Given the description of an element on the screen output the (x, y) to click on. 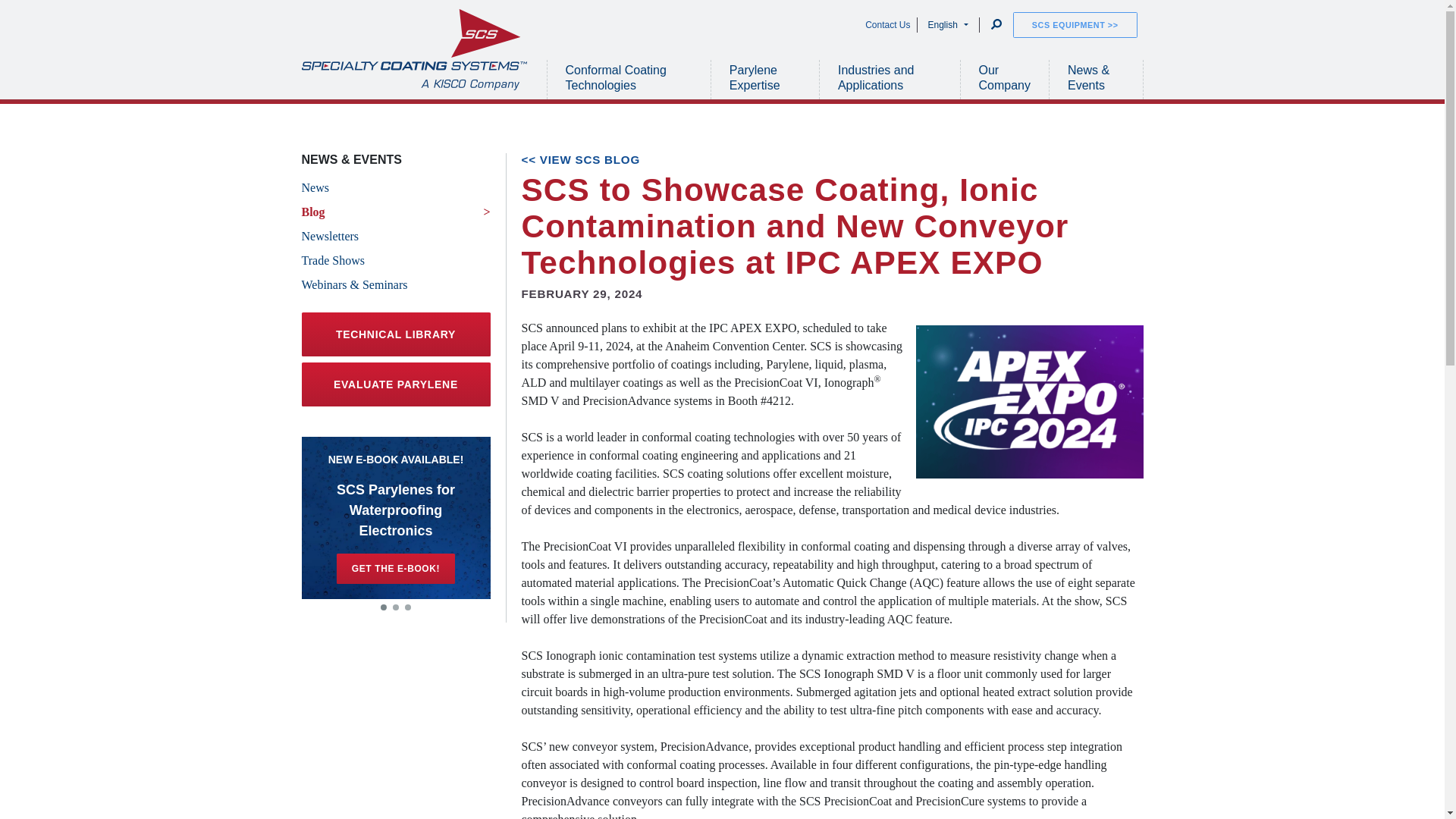
Contact Us (887, 24)
Parylene Expertise (764, 79)
Conformal Coating Technologies (628, 79)
English (947, 24)
